Given the description of an element on the screen output the (x, y) to click on. 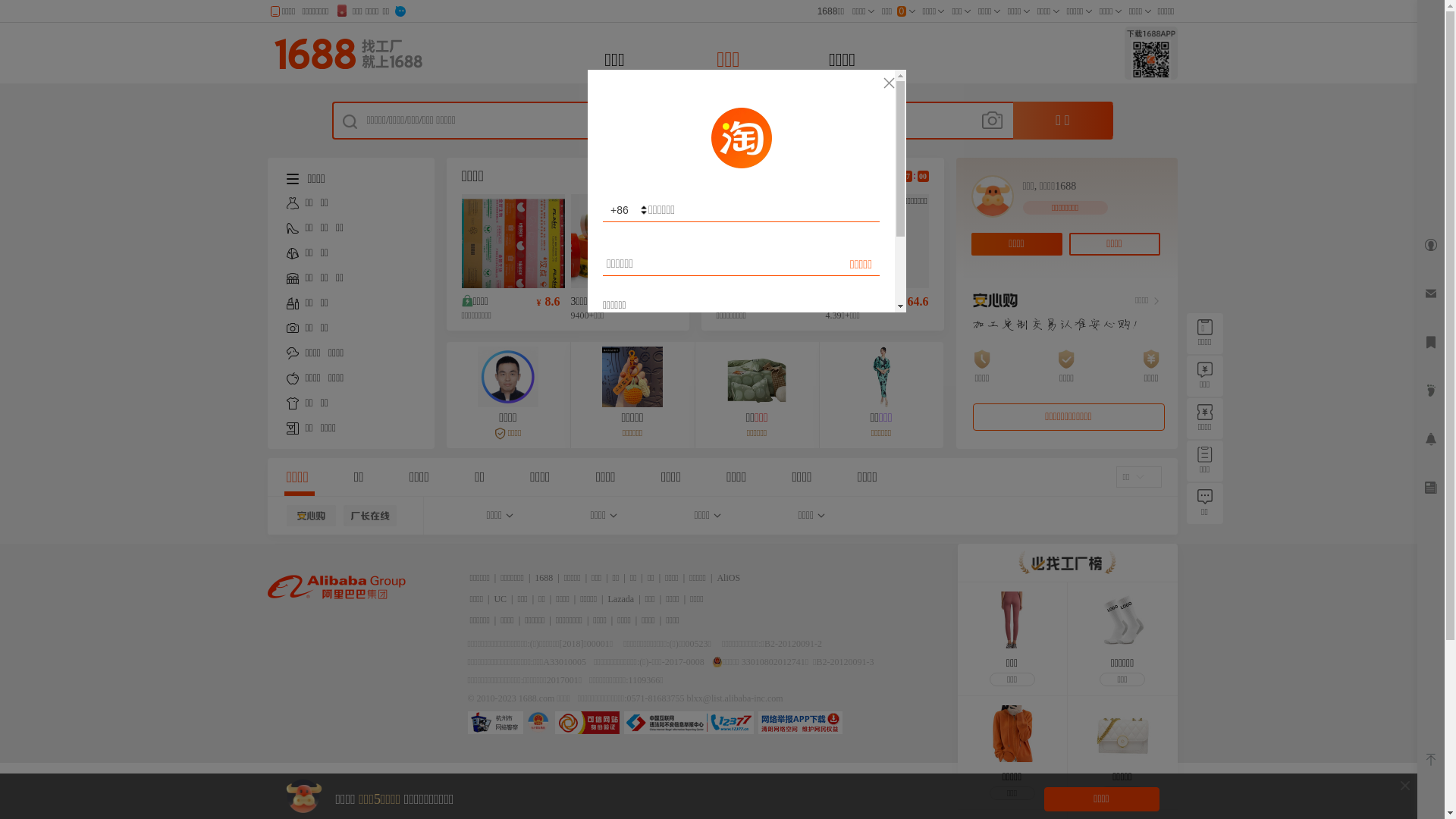
UC Element type: text (499, 598)
Lazada Element type: text (621, 598)
AliOS Element type: text (728, 577)
1688 Element type: text (543, 577)
